Given the description of an element on the screen output the (x, y) to click on. 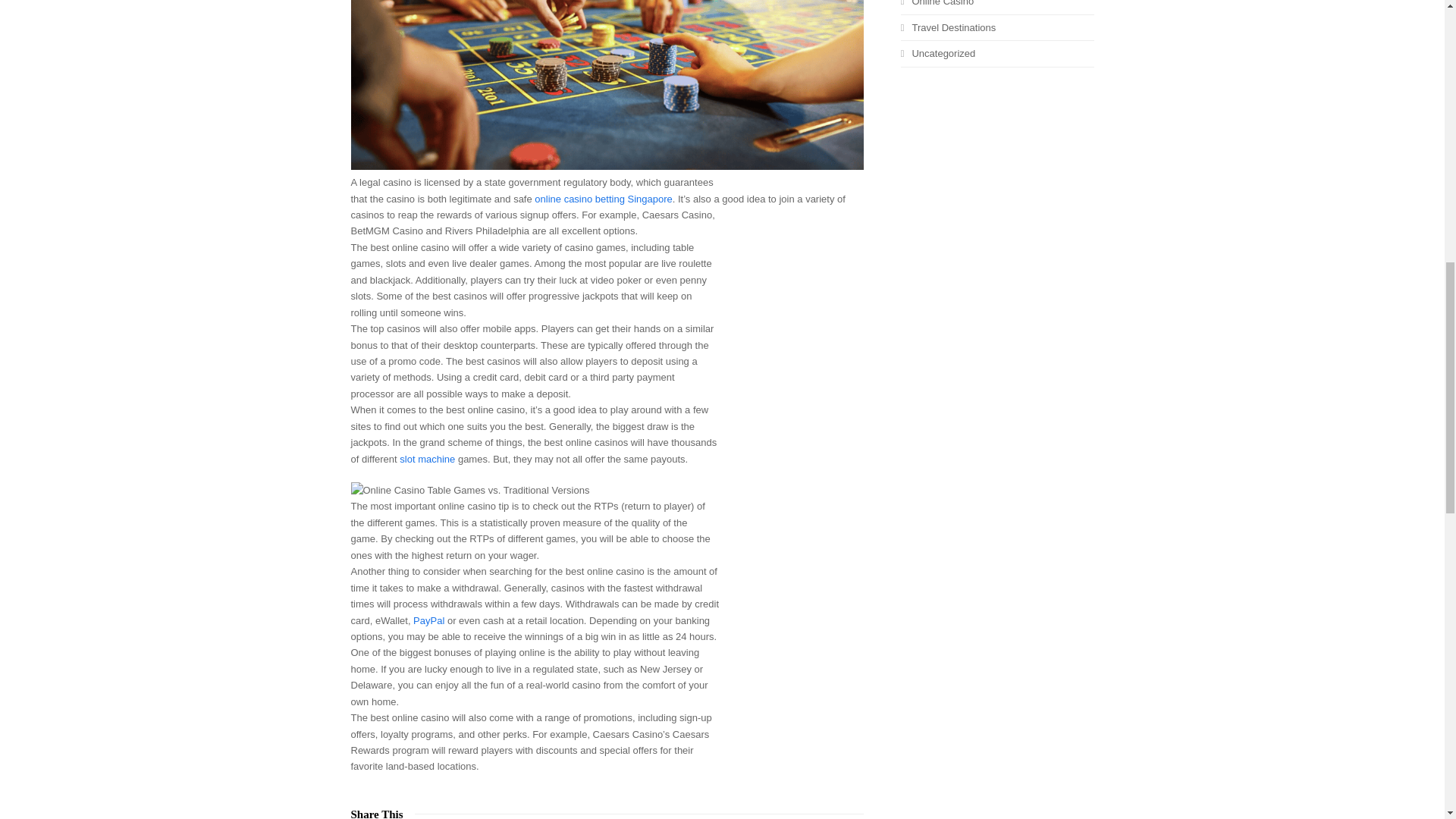
slot machine (426, 459)
PayPal (428, 620)
online casino betting Singapore (602, 198)
